Given the description of an element on the screen output the (x, y) to click on. 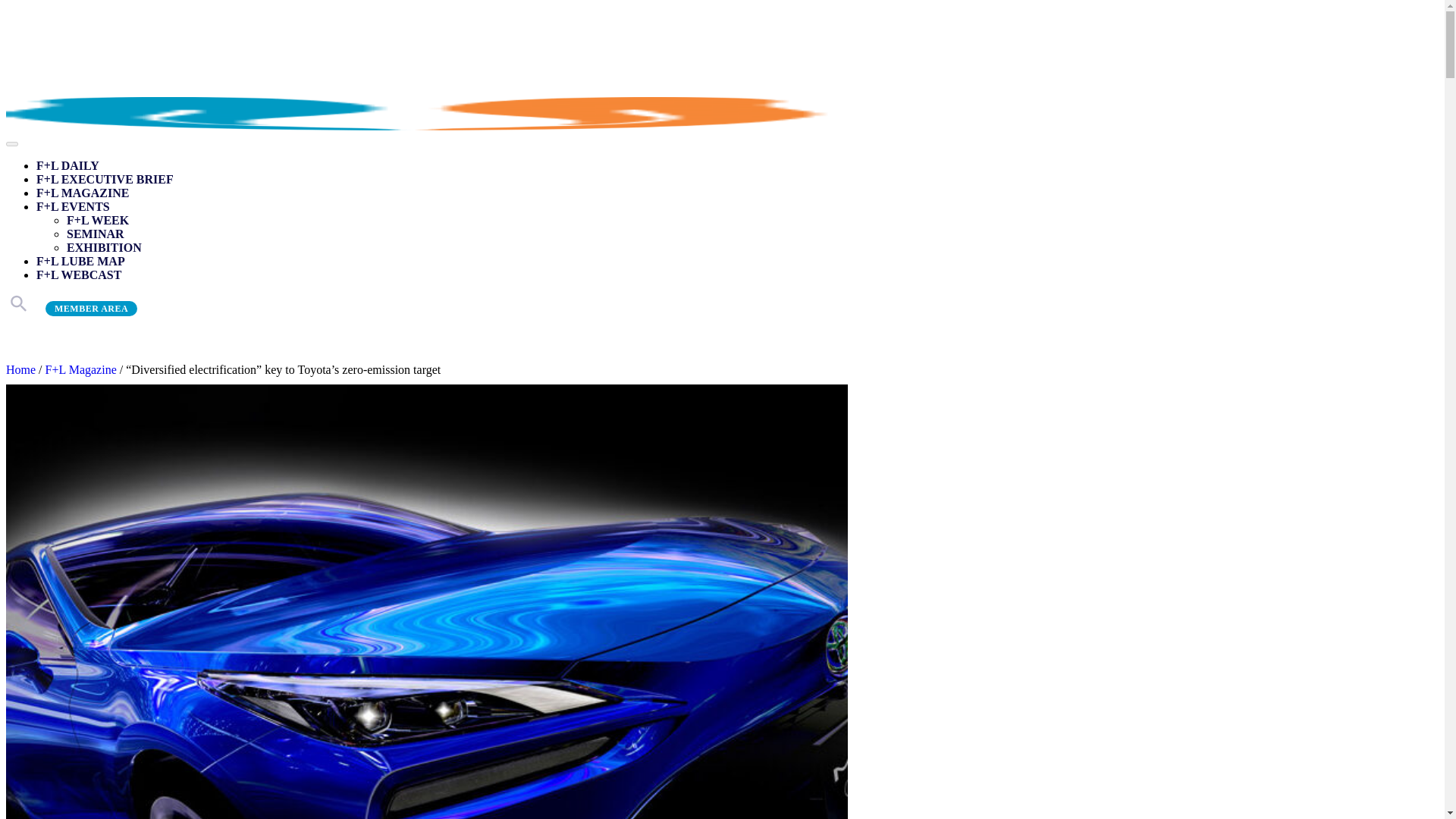
SEMINAR (94, 233)
EXHIBITION (103, 246)
MEMBER AREA (90, 308)
Home (19, 369)
